Given the description of an element on the screen output the (x, y) to click on. 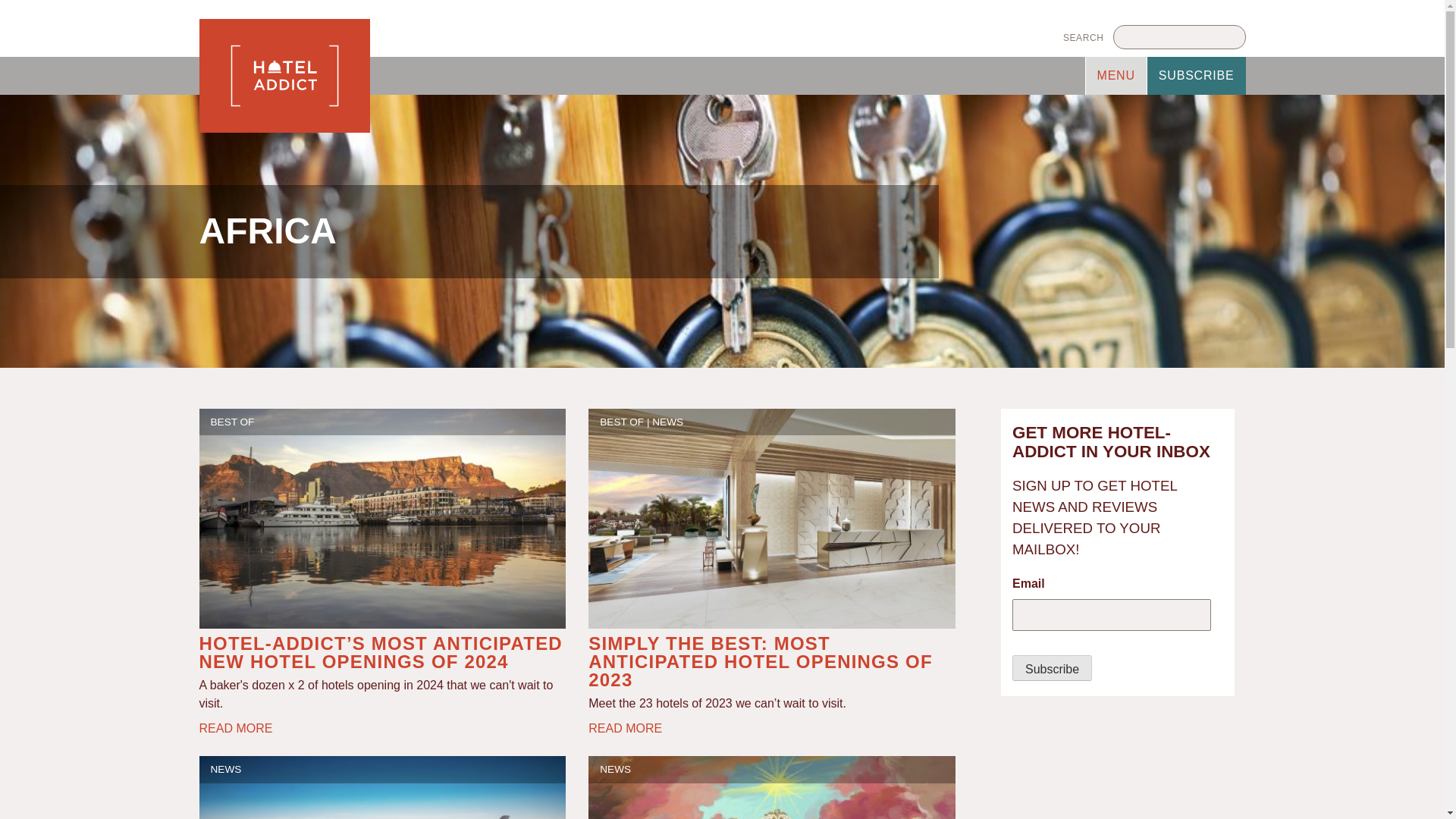
BEST OF (232, 420)
SUBSCRIBE (1196, 75)
READ MORE (625, 727)
NEWS (226, 768)
NEWS (667, 420)
NEWS (614, 768)
Subscribe (1051, 667)
MENU (1115, 75)
SIMPLY THE BEST: MOST ANTICIPATED HOTEL OPENINGS OF 2023 (760, 661)
BEST OF (621, 420)
Search (1083, 37)
READ MORE (235, 727)
Search (1083, 37)
Search (1083, 37)
